Given the description of an element on the screen output the (x, y) to click on. 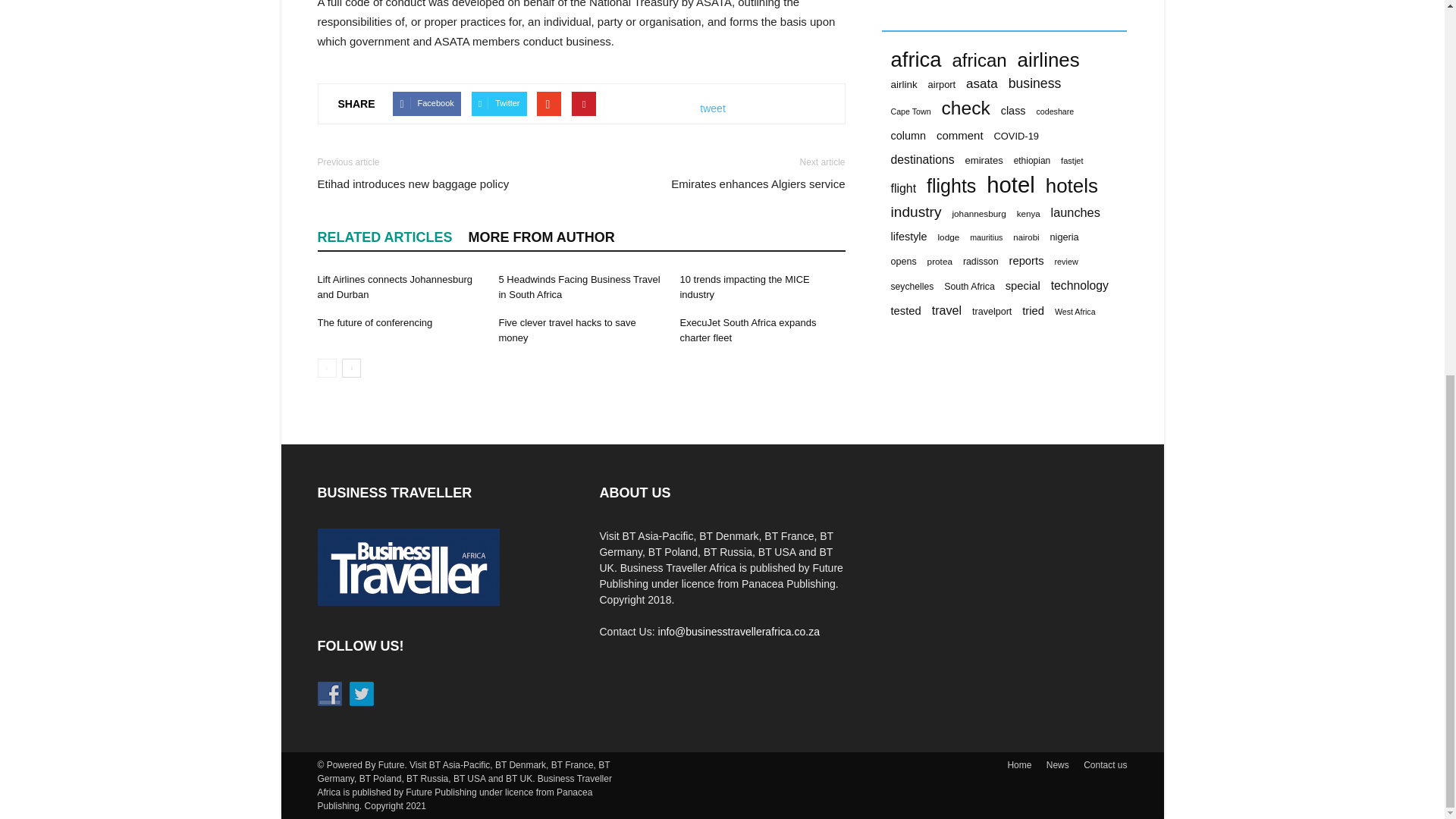
ExecuJet South Africa expands charter fleet (747, 329)
Follow Us: Facebook (328, 693)
10 trends impacting the MICE industry (744, 286)
Lift Airlines connects Johannesburg and Durban (394, 286)
Five clever travel hacks to save money (565, 329)
5 Headwinds Facing Business Travel in South Africa (578, 286)
The future of conferencing (374, 322)
